Given the description of an element on the screen output the (x, y) to click on. 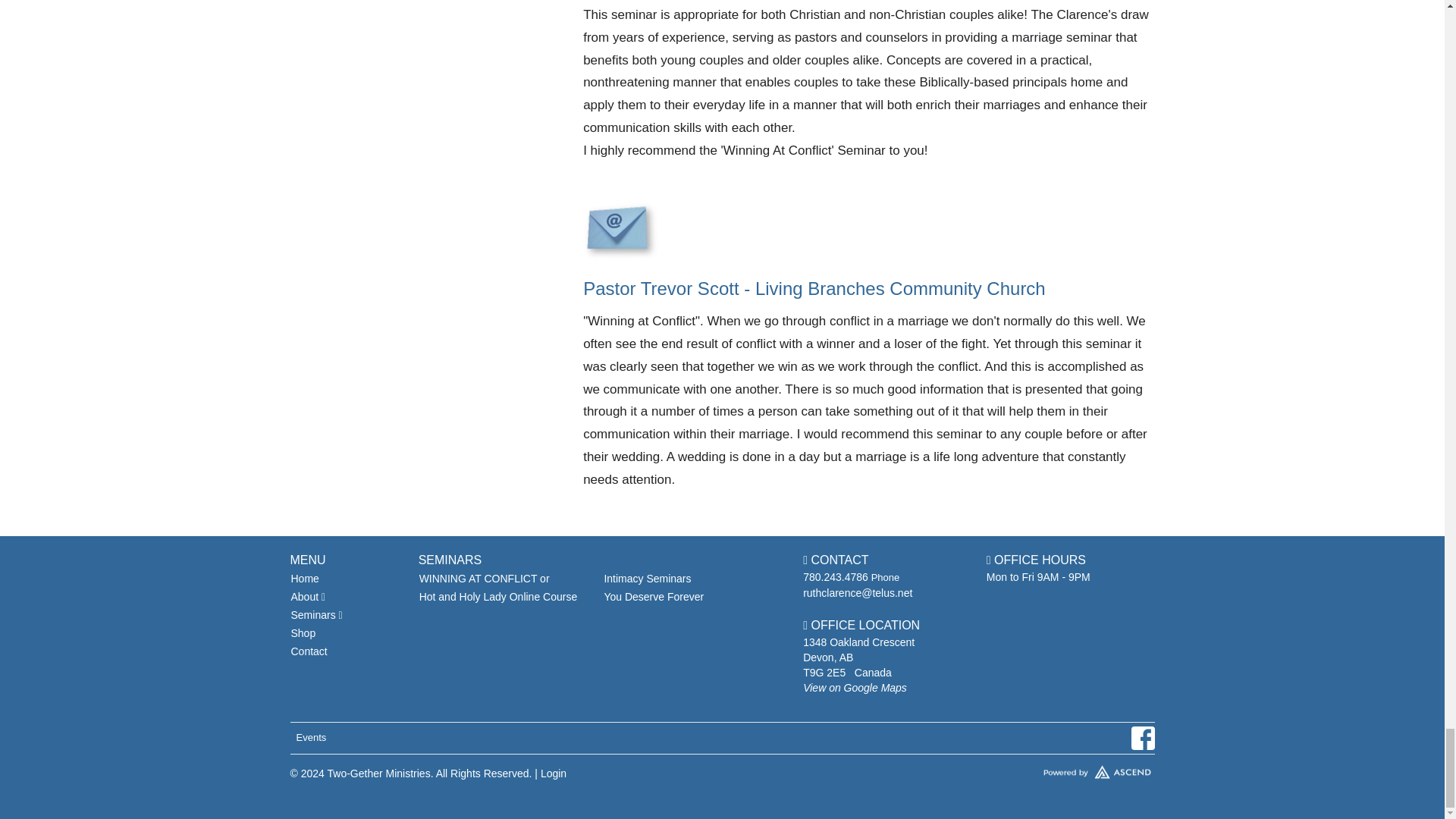
Seminars (346, 615)
About (346, 597)
Facebook Icon (1142, 738)
Home (346, 578)
